Given the description of an element on the screen output the (x, y) to click on. 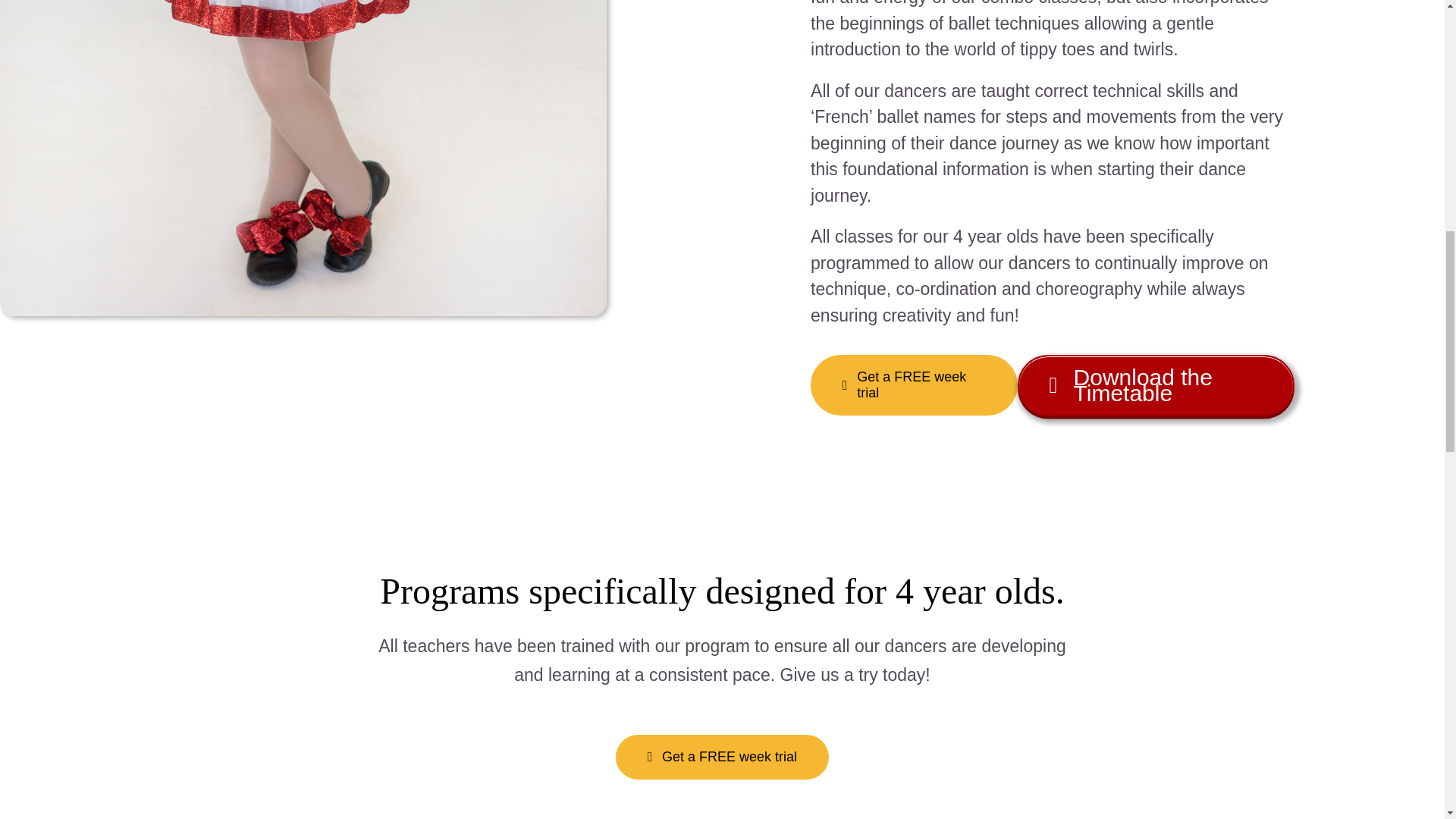
Get a FREE week trial (721, 756)
Get a FREE week trial (913, 384)
Download the Timetable (1155, 384)
